Given the description of an element on the screen output the (x, y) to click on. 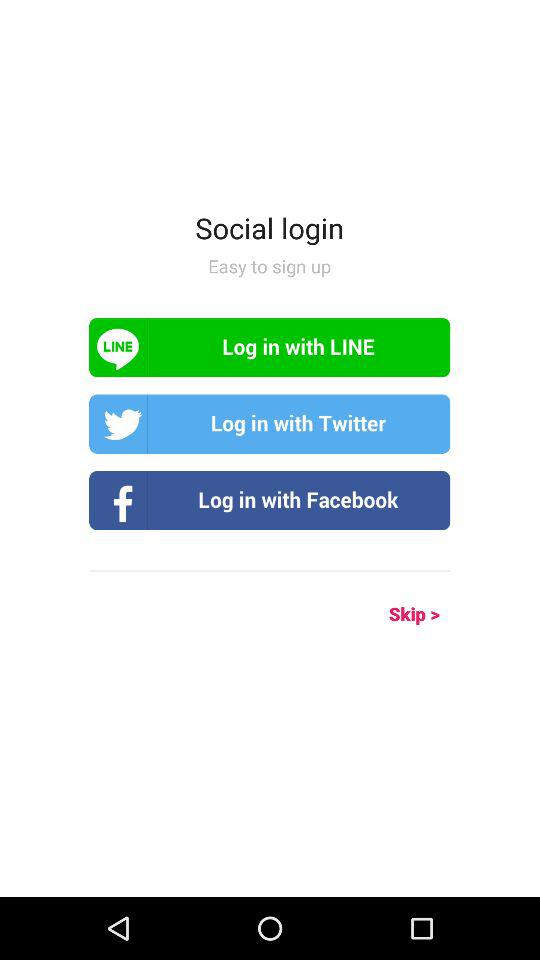
choose the icon on the right (392, 614)
